Given the description of an element on the screen output the (x, y) to click on. 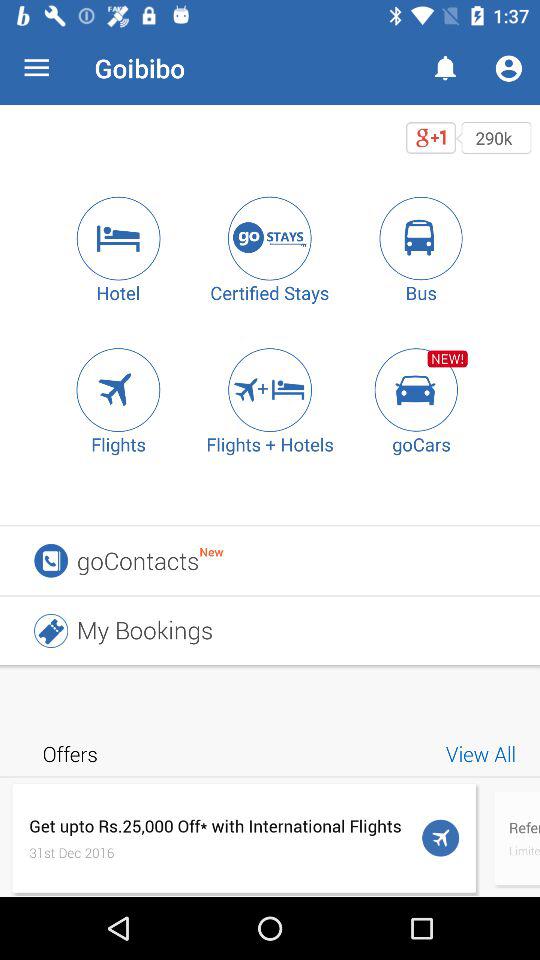
select go cars (421, 390)
